Given the description of an element on the screen output the (x, y) to click on. 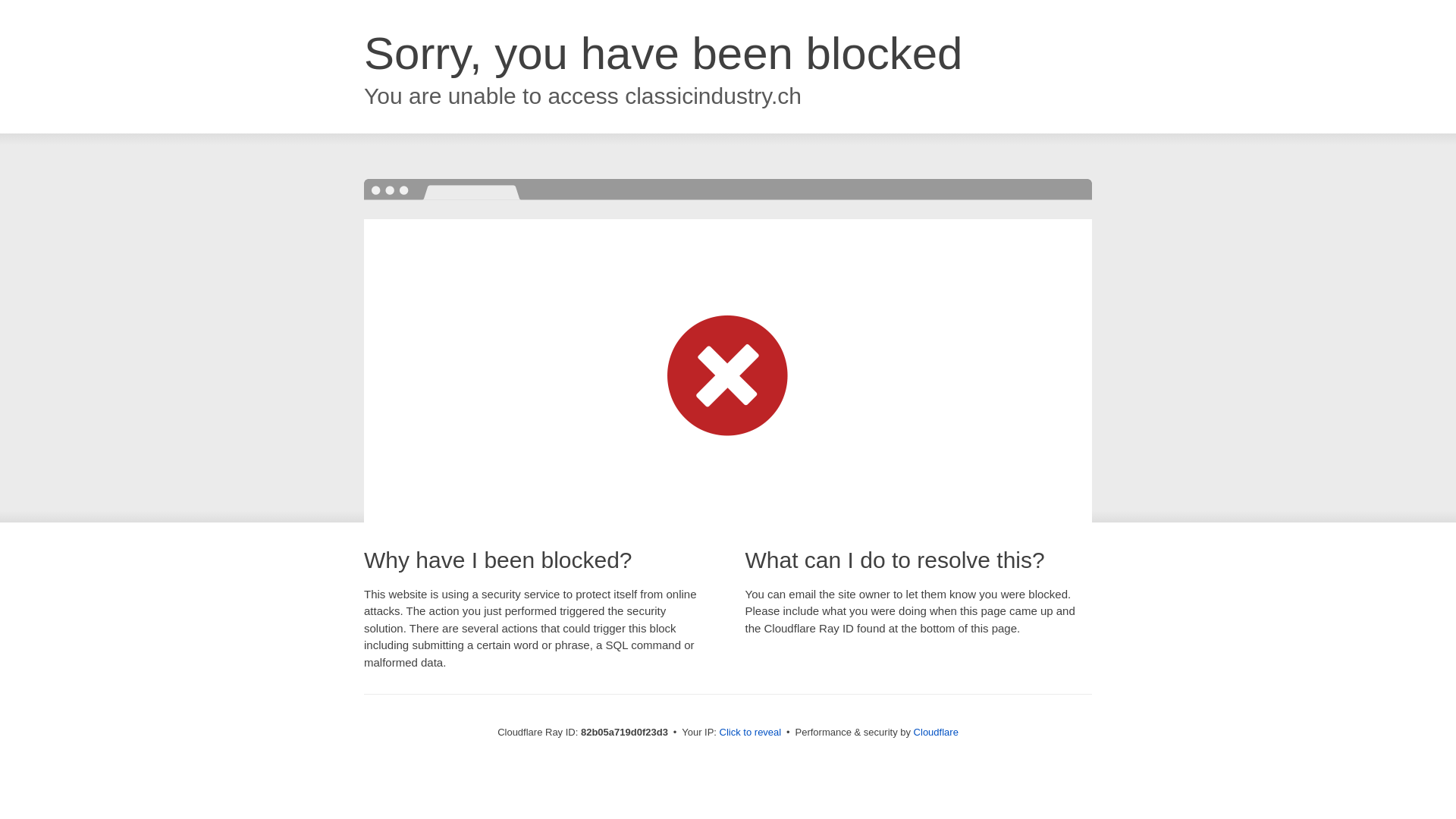
Cloudflare Element type: text (935, 731)
Click to reveal Element type: text (750, 732)
